Given the description of an element on the screen output the (x, y) to click on. 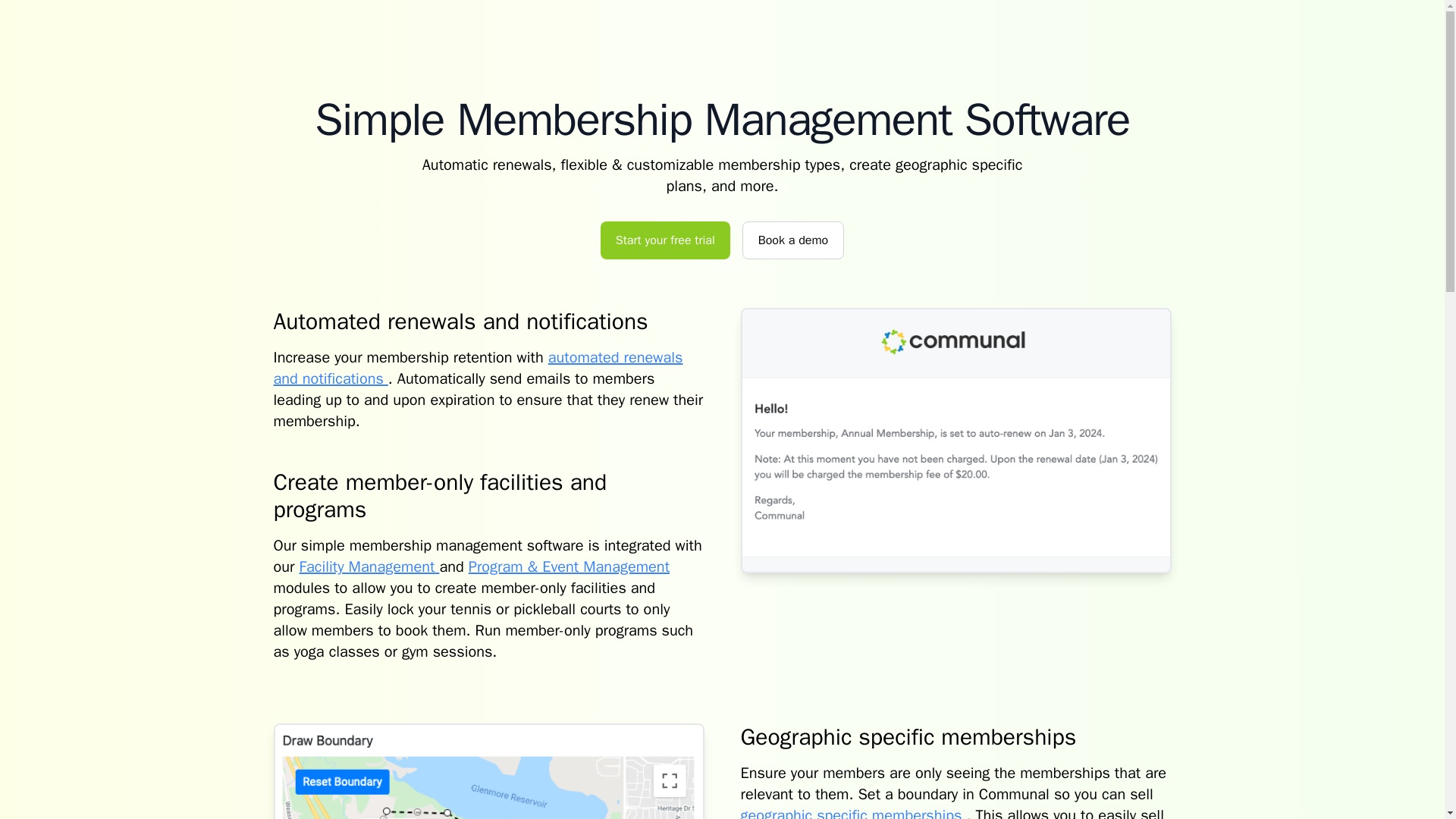
Facility Management (368, 566)
automated renewals and notifications (477, 368)
Start your free trial (664, 240)
geographic specific memberships (852, 812)
Book a demo (793, 240)
